Given the description of an element on the screen output the (x, y) to click on. 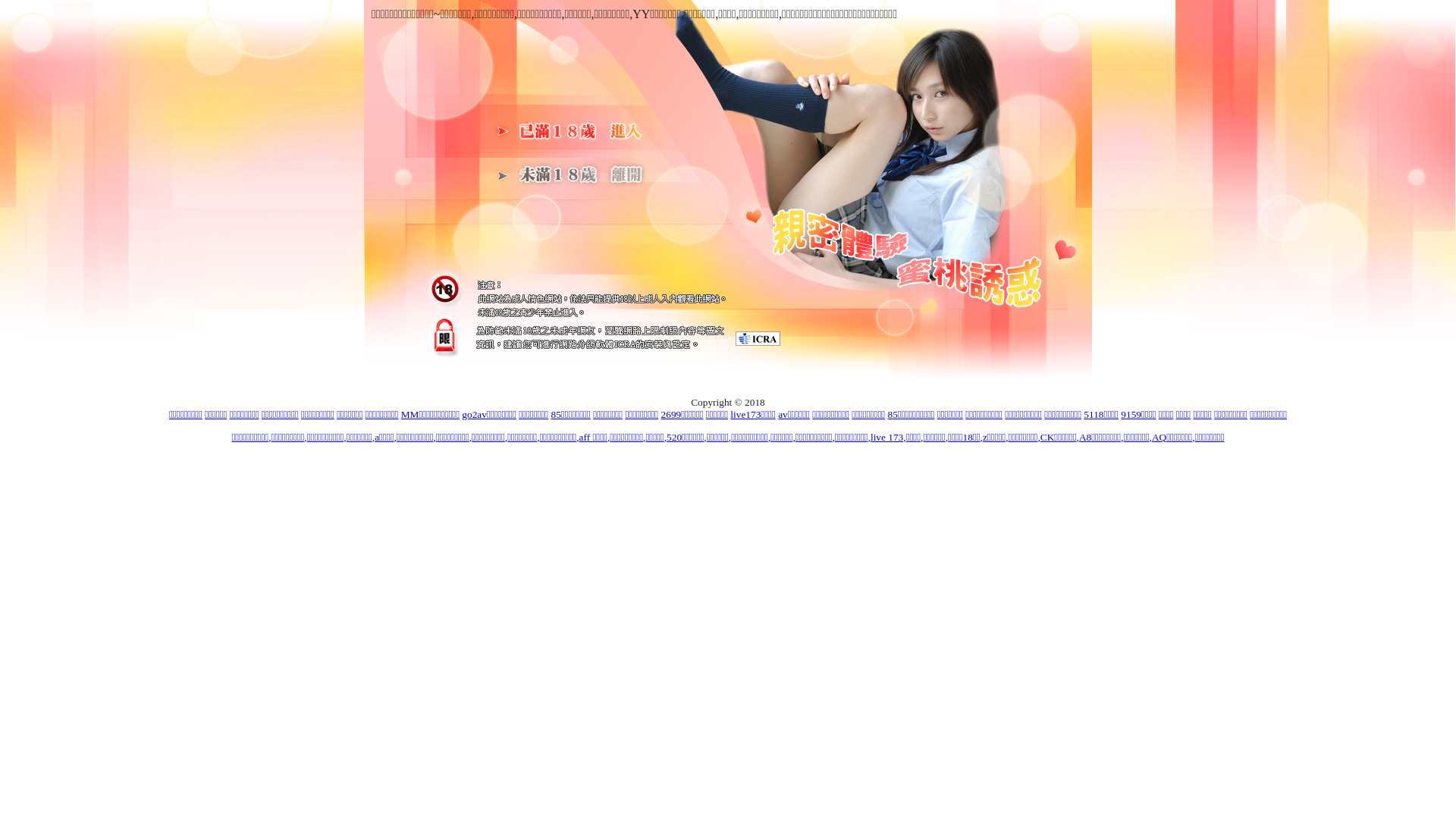
live 173 Element type: text (886, 436)
